Given the description of an element on the screen output the (x, y) to click on. 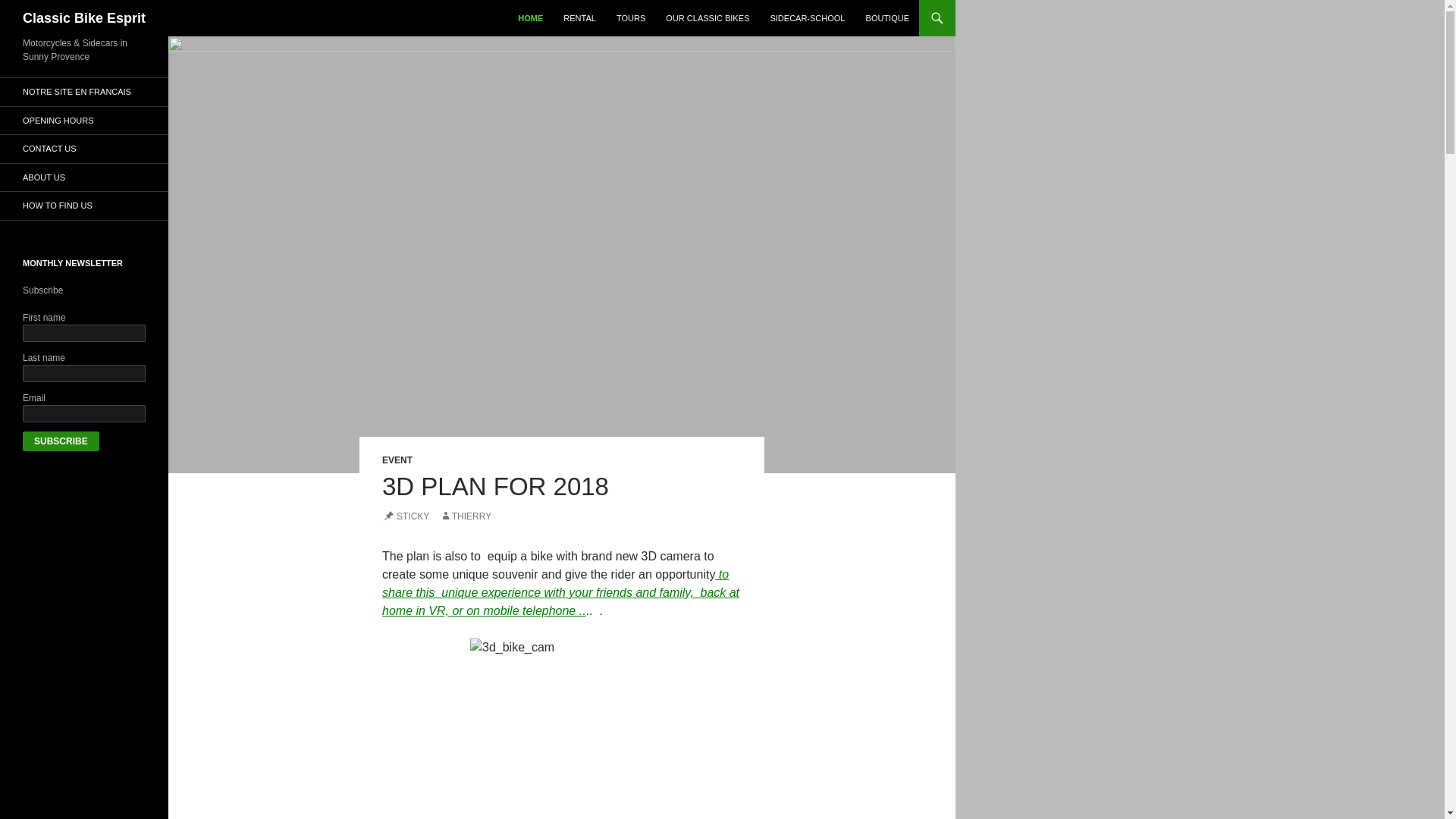
OUR CLASSIC BIKES (707, 18)
TOURS (630, 18)
EVENT (396, 460)
3D PLAN FOR 2018 (494, 486)
HOME (529, 18)
SIDECAR-SCHOOL (806, 18)
Subscribe (61, 441)
BOUTIQUE (887, 18)
Classic Bike Esprit (84, 18)
THIERRY (465, 516)
RENTAL (579, 18)
